Given the description of an element on the screen output the (x, y) to click on. 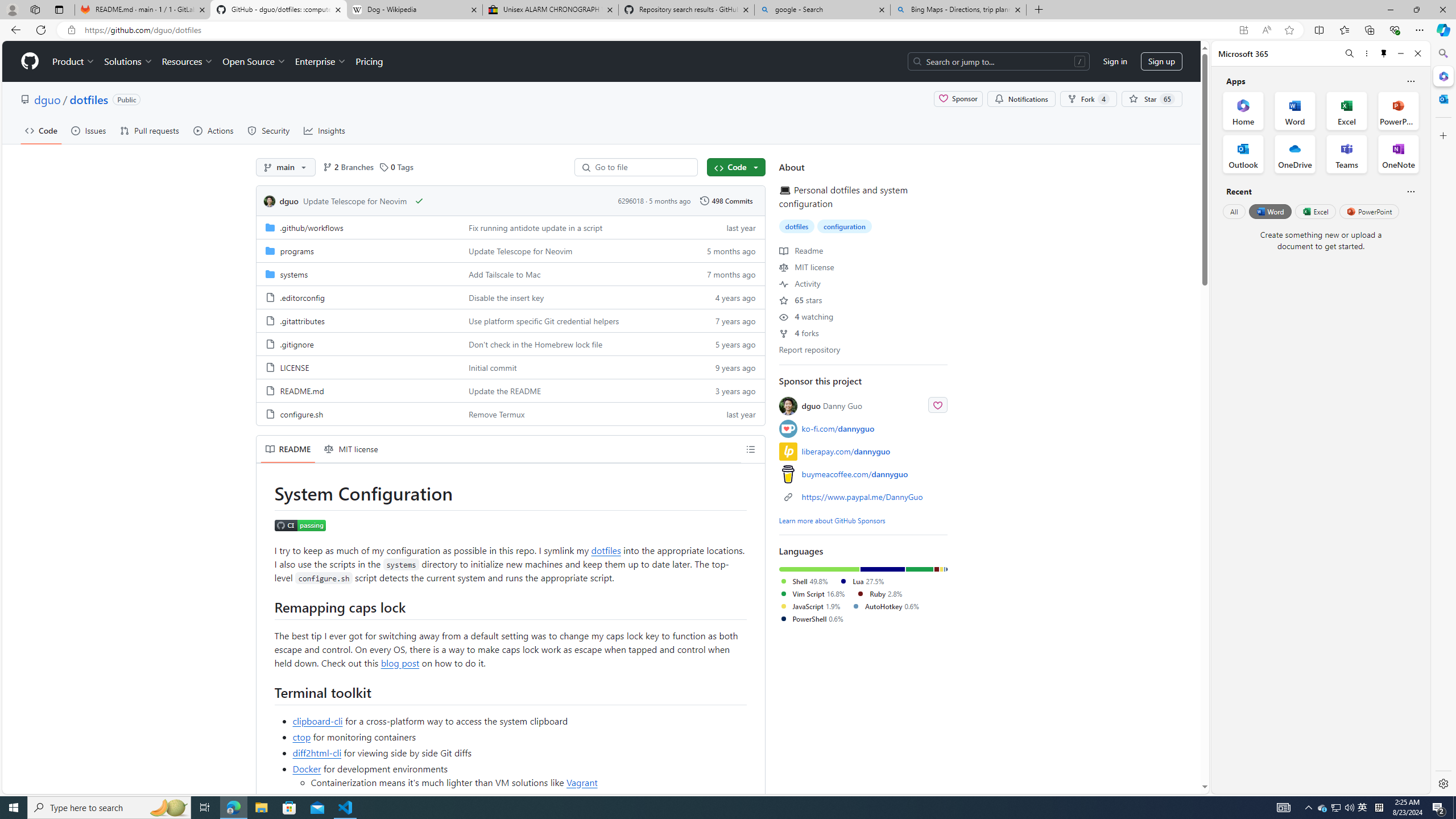
 MIT license (806, 266)
AutoHotkey0.6% (889, 606)
Dog - Wikipedia (414, 9)
2 Branches (348, 167)
Insights (324, 130)
Remove Termux (573, 413)
Remove Termux (496, 413)
https://www.paypal.me/DannyGuo (861, 496)
systems, (Directory) (293, 274)
Notifications (1021, 98)
Permalink: System Configuration (266, 492)
Docker (306, 768)
